Given the description of an element on the screen output the (x, y) to click on. 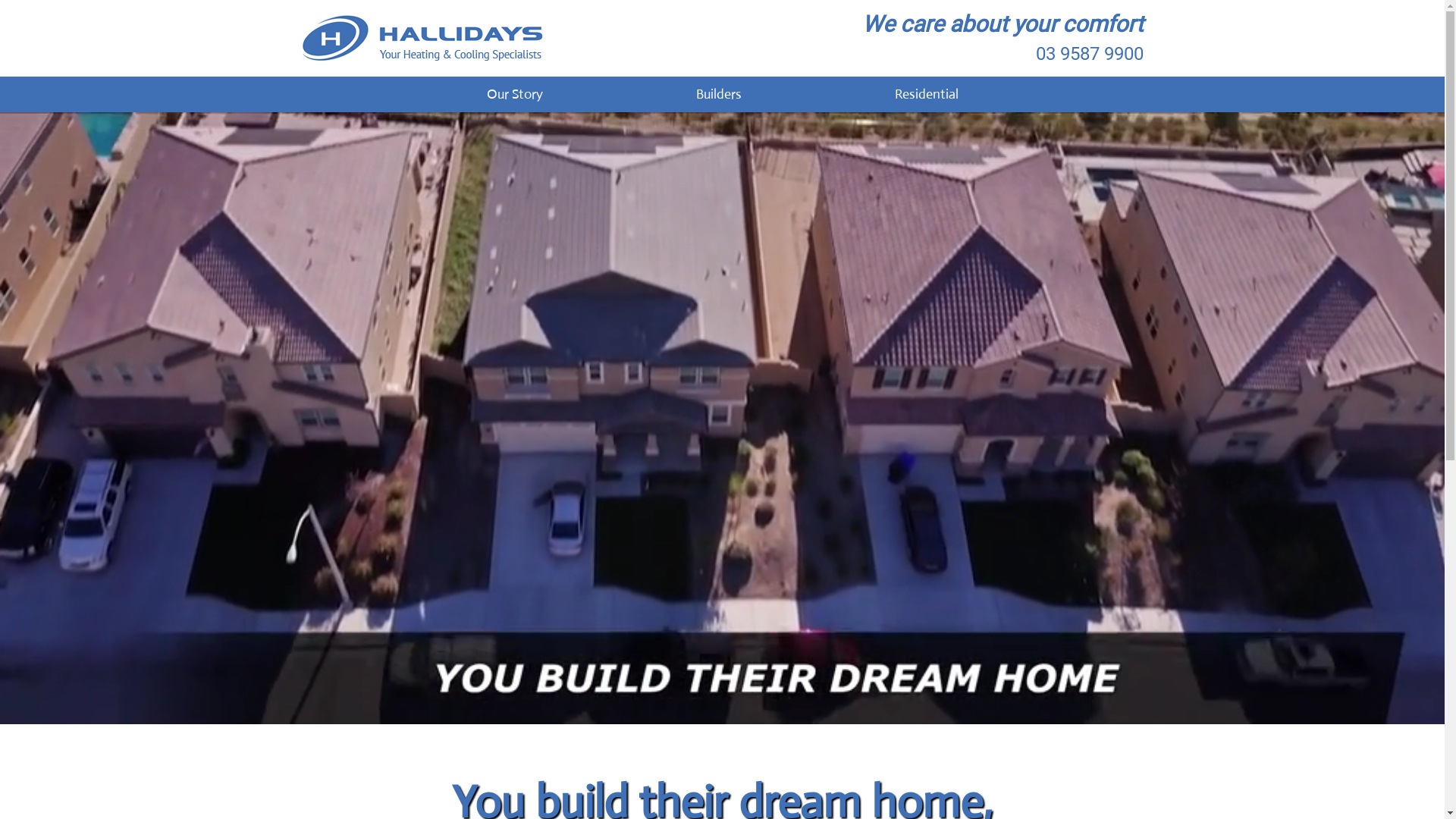
Builders Element type: text (717, 94)
03 9587 9900 Element type: text (1089, 53)
Our Story Element type: text (513, 94)
Residential Element type: text (925, 94)
